Given the description of an element on the screen output the (x, y) to click on. 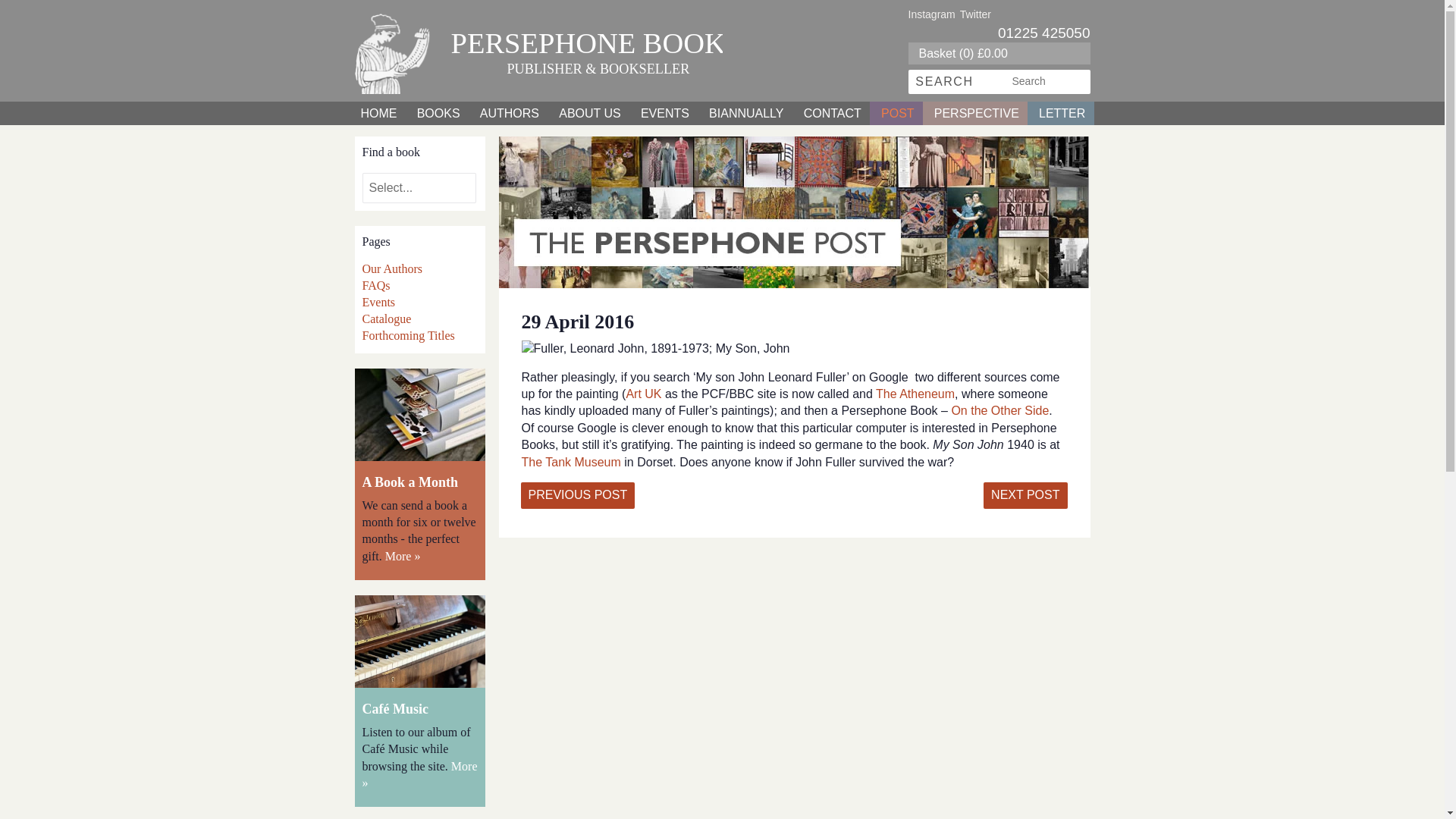
3 May 2016 (1025, 495)
Persephone Books on Twitter (975, 14)
Twitter (975, 14)
01225 425050 (1043, 33)
Persephone Books on Instagram (931, 14)
SEARCH (944, 82)
Instagram (931, 14)
28 April 2026 (576, 495)
